Given the description of an element on the screen output the (x, y) to click on. 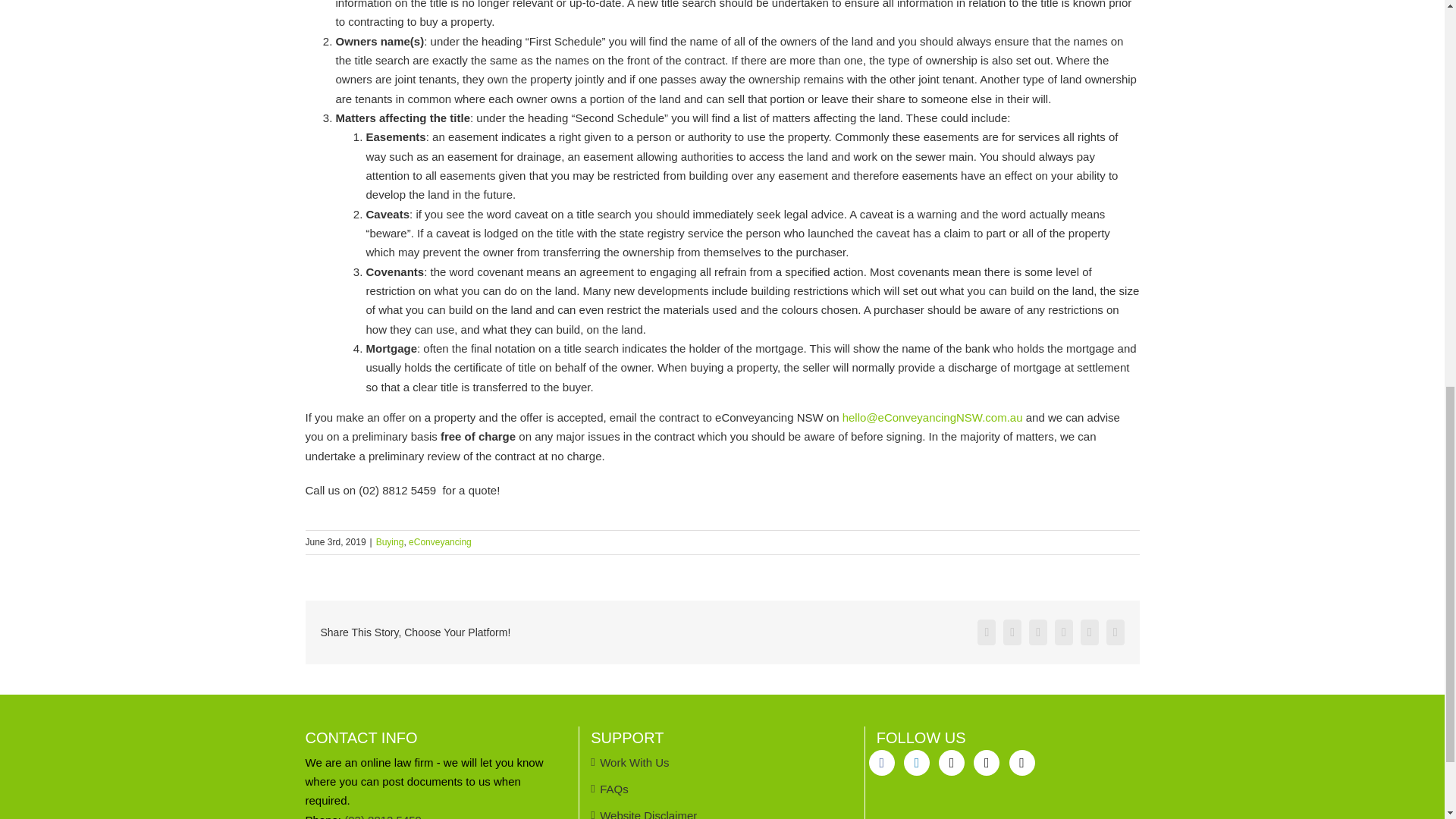
Reddit (1037, 632)
LinkedIn (1063, 632)
FAQs (722, 788)
Work With Us (722, 762)
Buying (389, 542)
Default Label (1021, 762)
Facebook (985, 632)
Facebook (882, 762)
Pinterest (1089, 632)
Default Label (986, 762)
eConveyancing (440, 542)
Default Label (951, 762)
X (1012, 632)
Vk (1115, 632)
Default Label (917, 762)
